Given the description of an element on the screen output the (x, y) to click on. 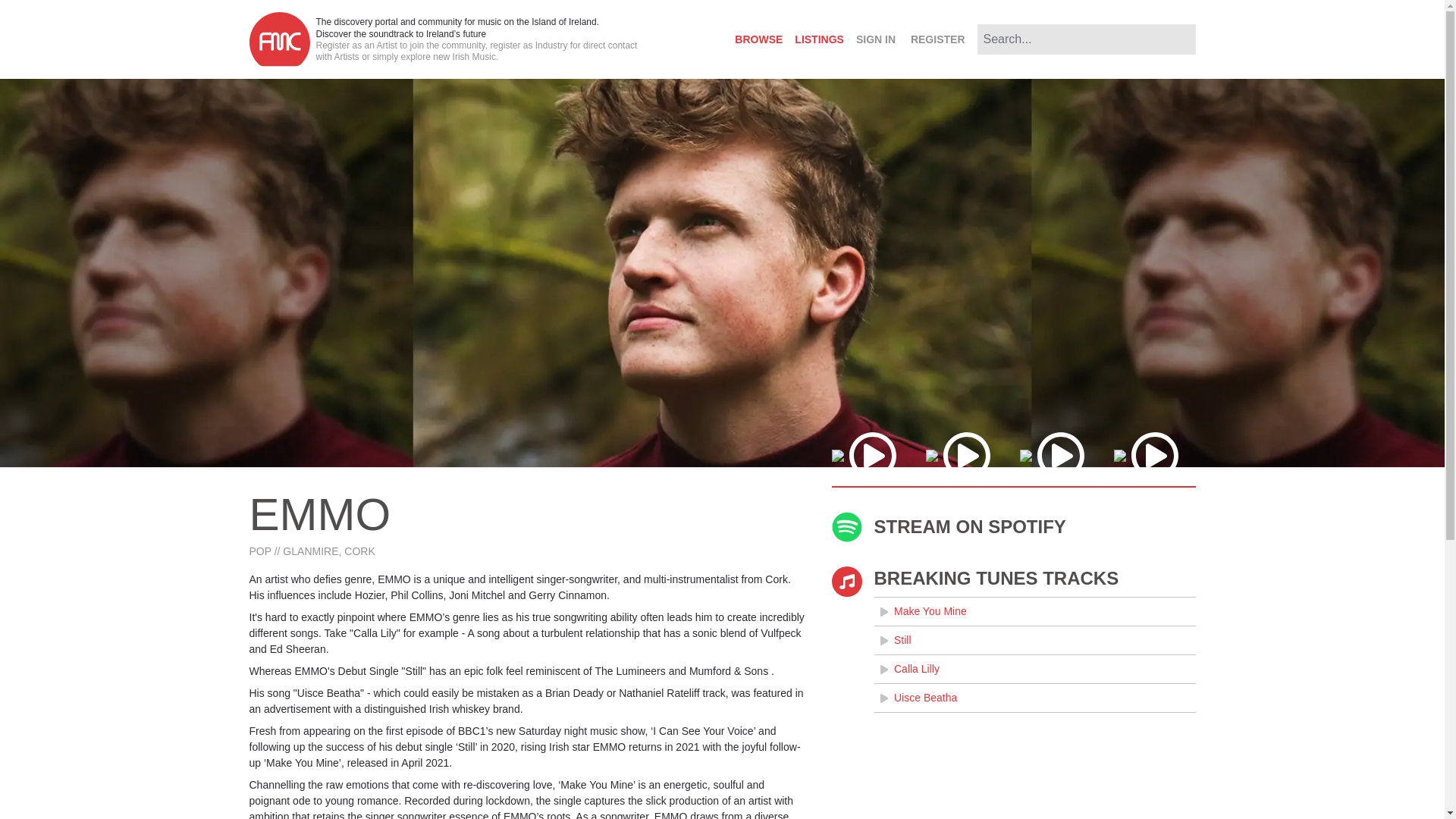
BROWSE (759, 39)
STREAM ON SPOTIFY (1013, 526)
SIGN IN (875, 39)
LISTINGS (819, 39)
Uisce Beatha (1034, 697)
Calla Lilly (1034, 669)
Still (1034, 640)
Make You Mine (1034, 611)
REGISTER (937, 39)
